Given the description of an element on the screen output the (x, y) to click on. 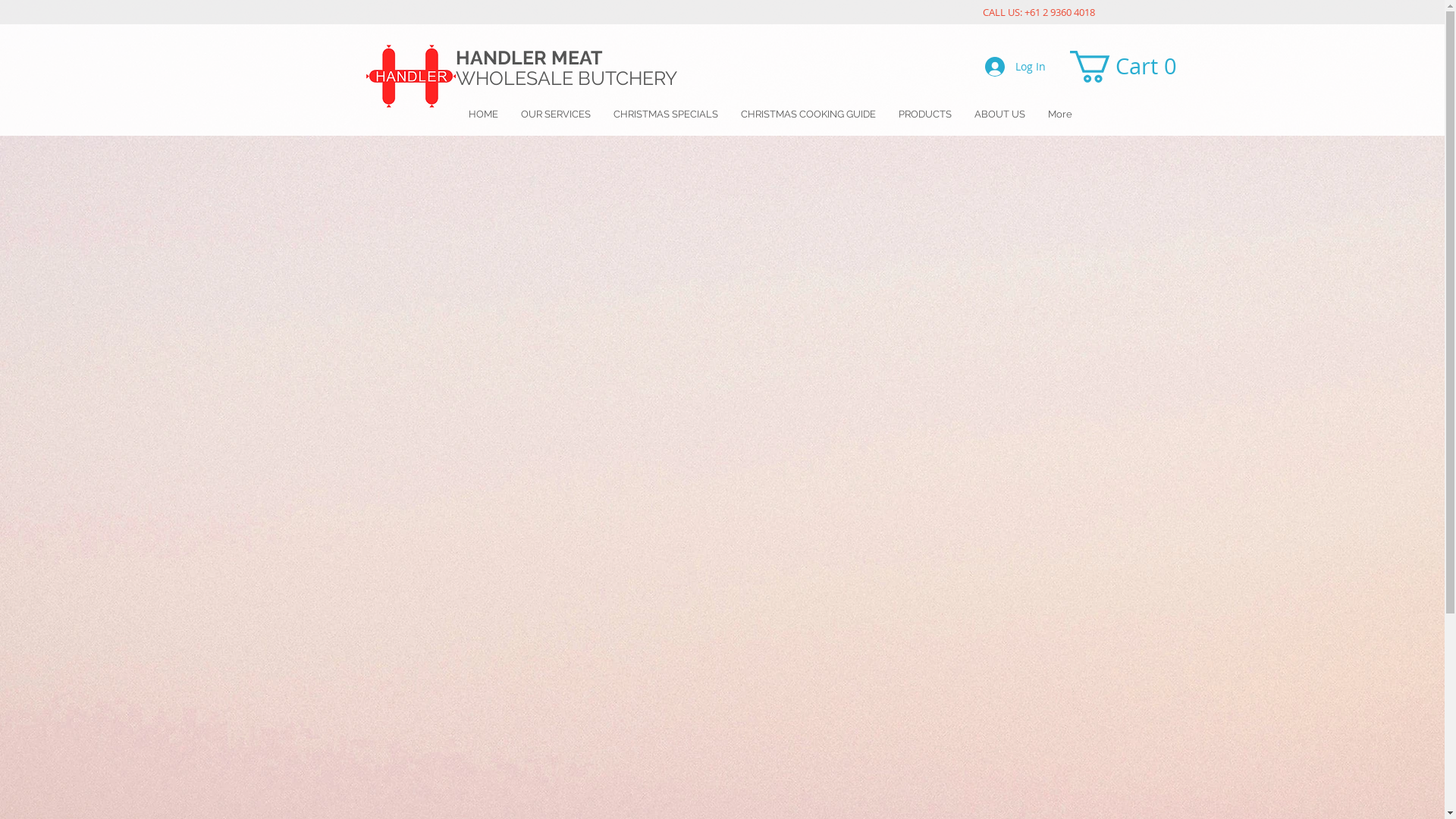
PRODUCTS Element type: text (925, 113)
WHOLESALE BUTCHERY  Element type: text (567, 77)
Log In Element type: text (1014, 66)
HANDLER MEAT Element type: text (528, 57)
ABOUT US Element type: text (999, 113)
OUR SERVICES Element type: text (555, 113)
HOME Element type: text (482, 113)
CHRISTMAS SPECIALS Element type: text (665, 113)
Untitled.png Element type: hover (410, 75)
Cart
0 Element type: text (1129, 66)
CHRISTMAS COOKING GUIDE Element type: text (808, 113)
